Given the description of an element on the screen output the (x, y) to click on. 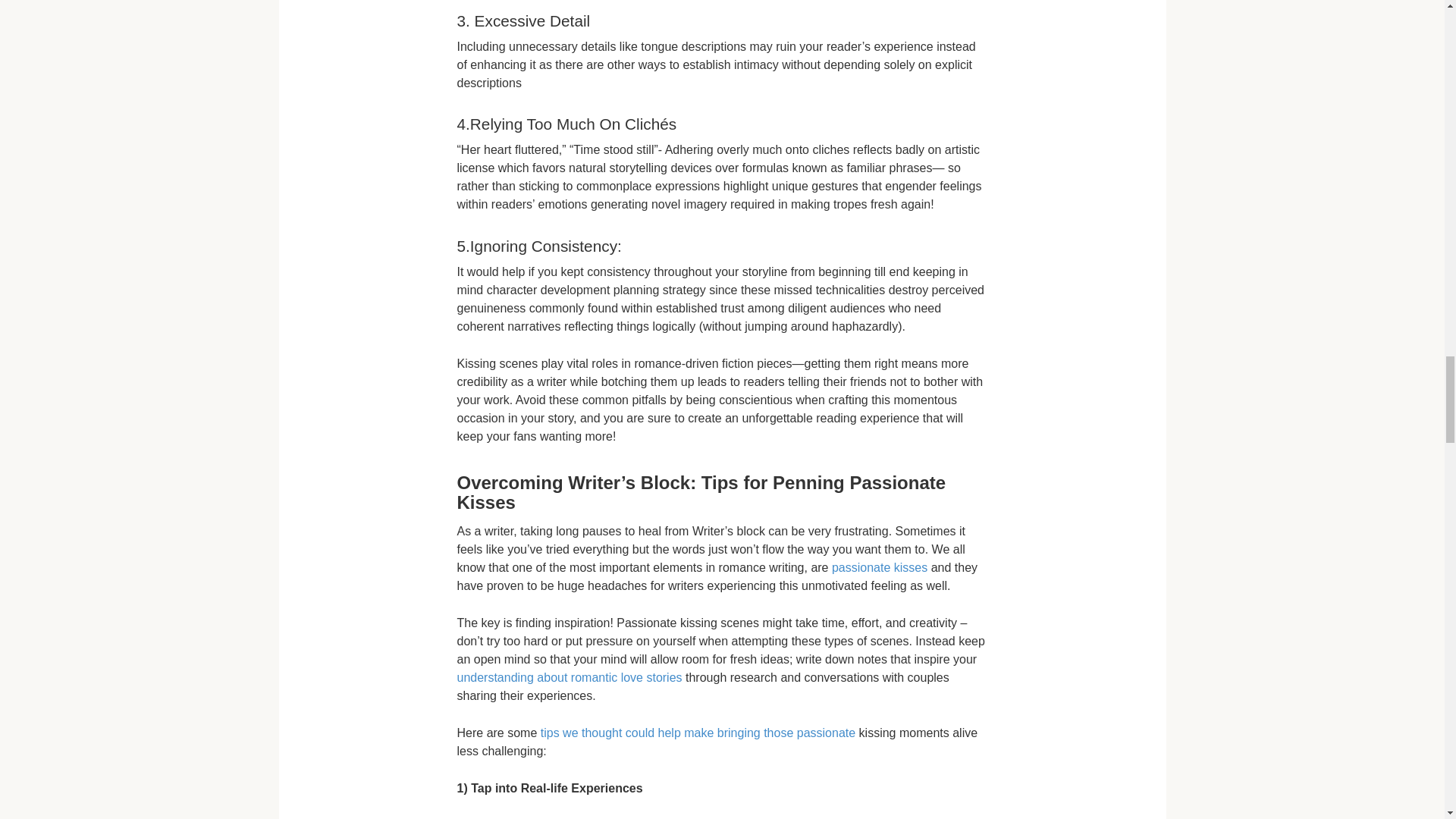
understanding about romantic love stories (569, 676)
tips we thought could help make bringing those passionate (698, 732)
passionate kisses (879, 567)
